Given the description of an element on the screen output the (x, y) to click on. 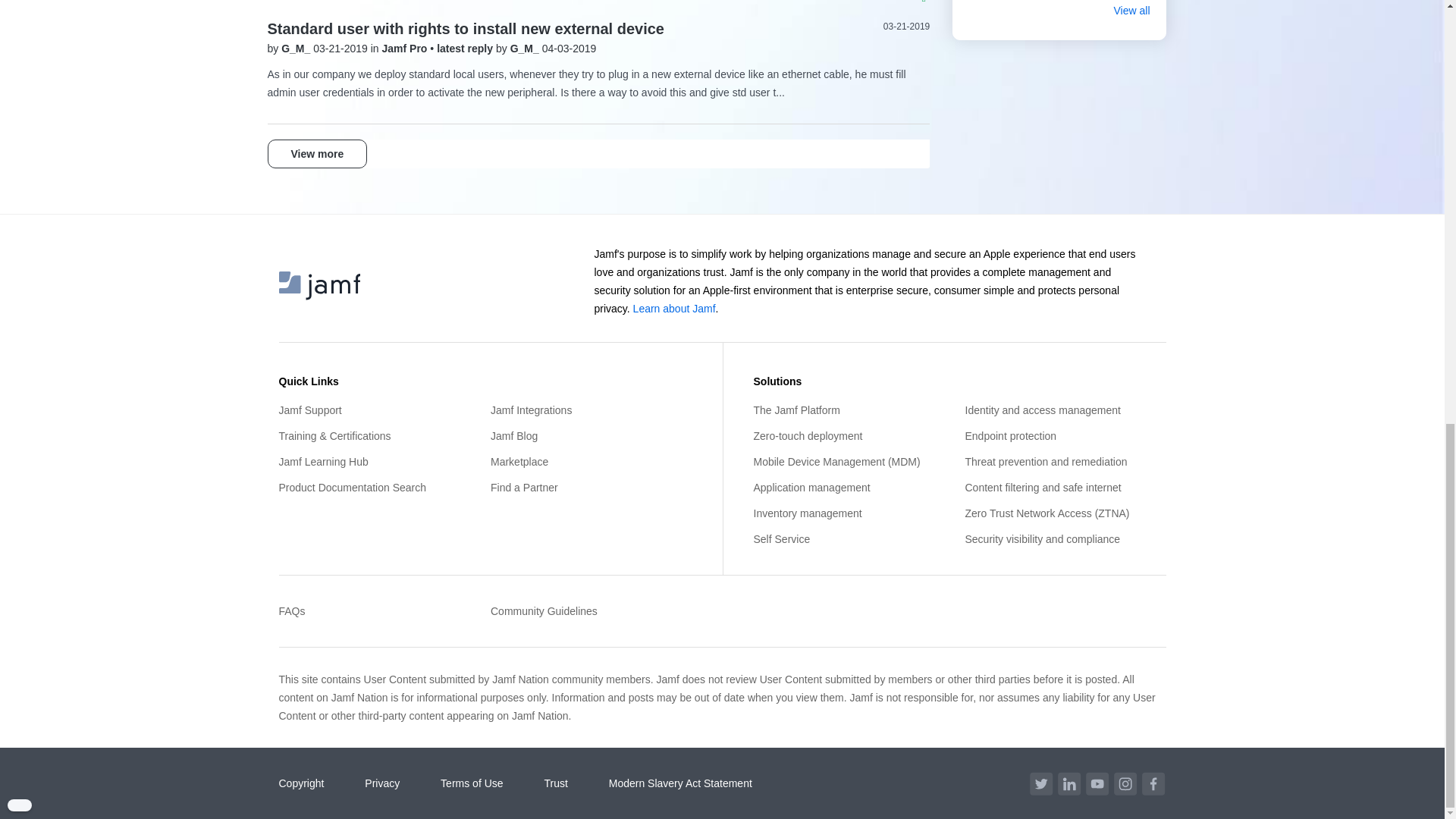
latest reply (466, 48)
Jamf Pro (405, 48)
Standard user with rights to install new external device (464, 28)
View profile (297, 48)
View profile (526, 48)
03-21-2019 04:09 AM 03-21-2019 04:09 AM (906, 26)
View post (466, 48)
View more (316, 153)
